Given the description of an element on the screen output the (x, y) to click on. 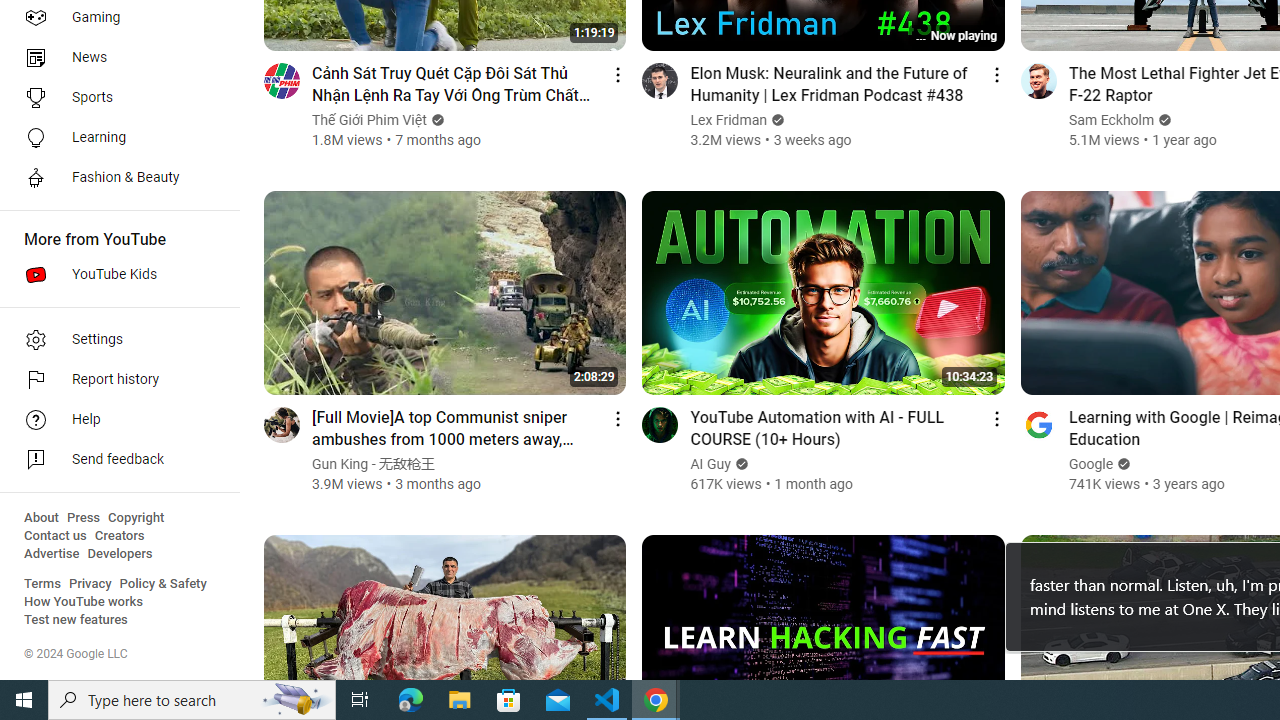
Policy & Safety (163, 584)
Report history (113, 380)
